Given the description of an element on the screen output the (x, y) to click on. 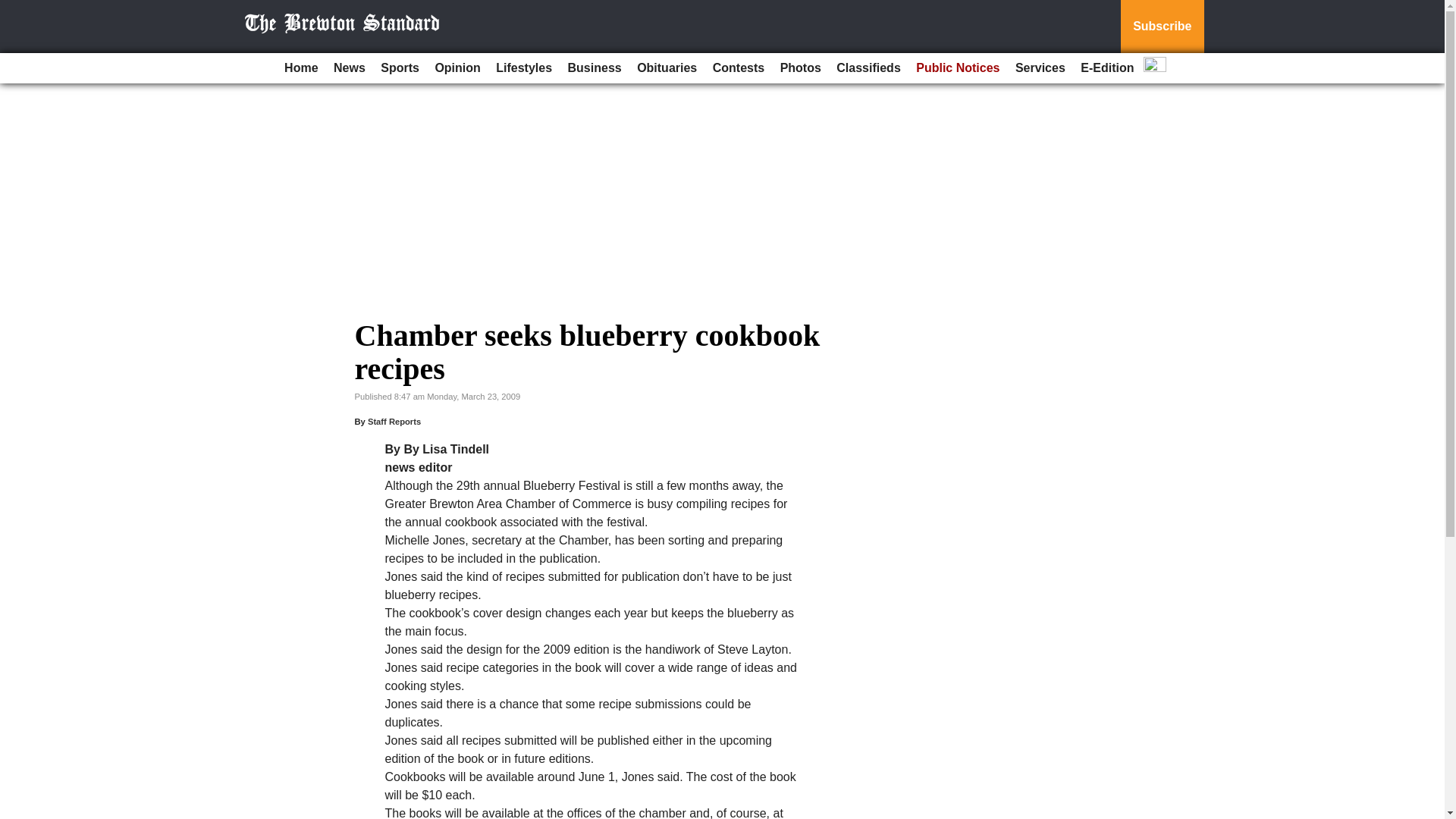
News (349, 68)
Staff Reports (394, 420)
Go (13, 9)
Subscribe (1162, 26)
Services (1040, 68)
Home (300, 68)
Opinion (457, 68)
Business (594, 68)
Classifieds (867, 68)
Photos (800, 68)
